Given the description of an element on the screen output the (x, y) to click on. 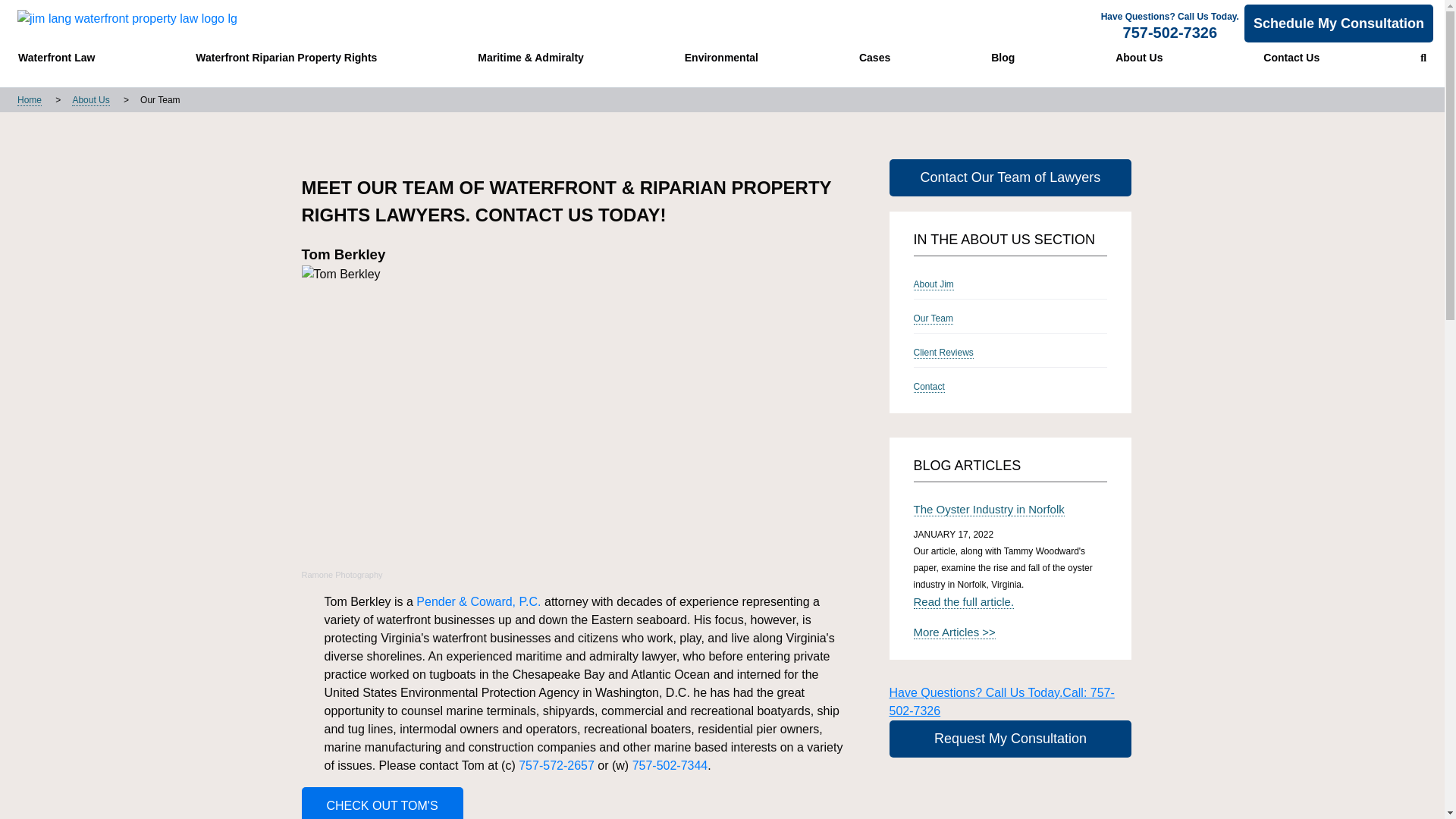
Environmental (721, 57)
Cases (874, 57)
Schedule My Consultation (1338, 23)
Blog (1002, 57)
Waterfront Law (56, 57)
Waterfront Riparian Property Rights (285, 57)
About Us (1138, 57)
Contact Us (1291, 57)
Check out Tom's LinkedIn Profile (382, 803)
757-502-7326 (1169, 32)
